Given the description of an element on the screen output the (x, y) to click on. 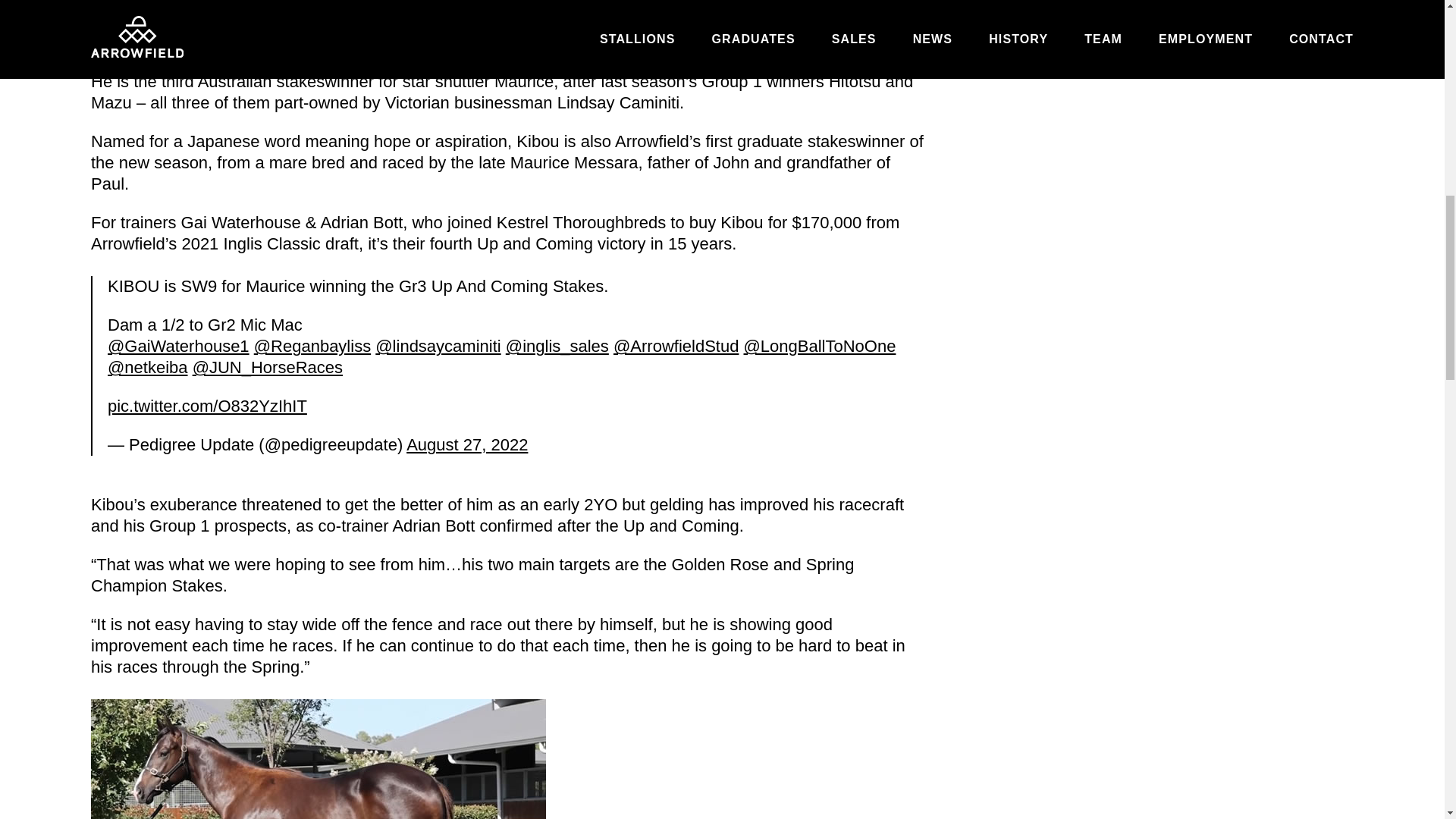
August 27, 2022 (466, 444)
